Given the description of an element on the screen output the (x, y) to click on. 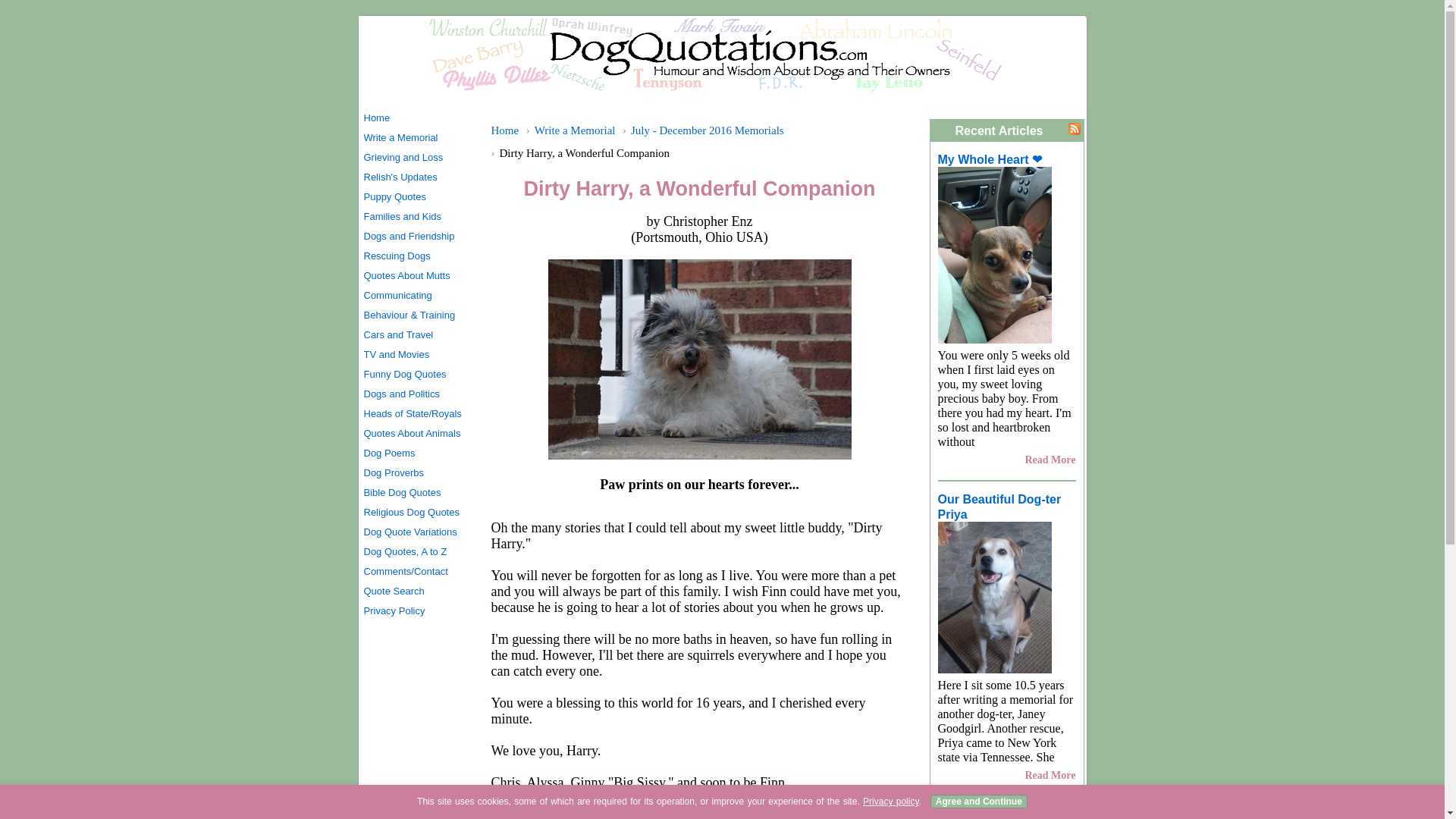
Privacy Policy (419, 610)
Read More (1050, 460)
Communicating (419, 295)
Recent Articles (999, 130)
Dogs and Friendship (419, 236)
Our Beautiful Dog-ter Priya (999, 506)
Rescuing Dogs (419, 256)
Dog Proverbs (419, 473)
Grieving and Loss (419, 157)
Bible Dog Quotes (419, 492)
